Given the description of an element on the screen output the (x, y) to click on. 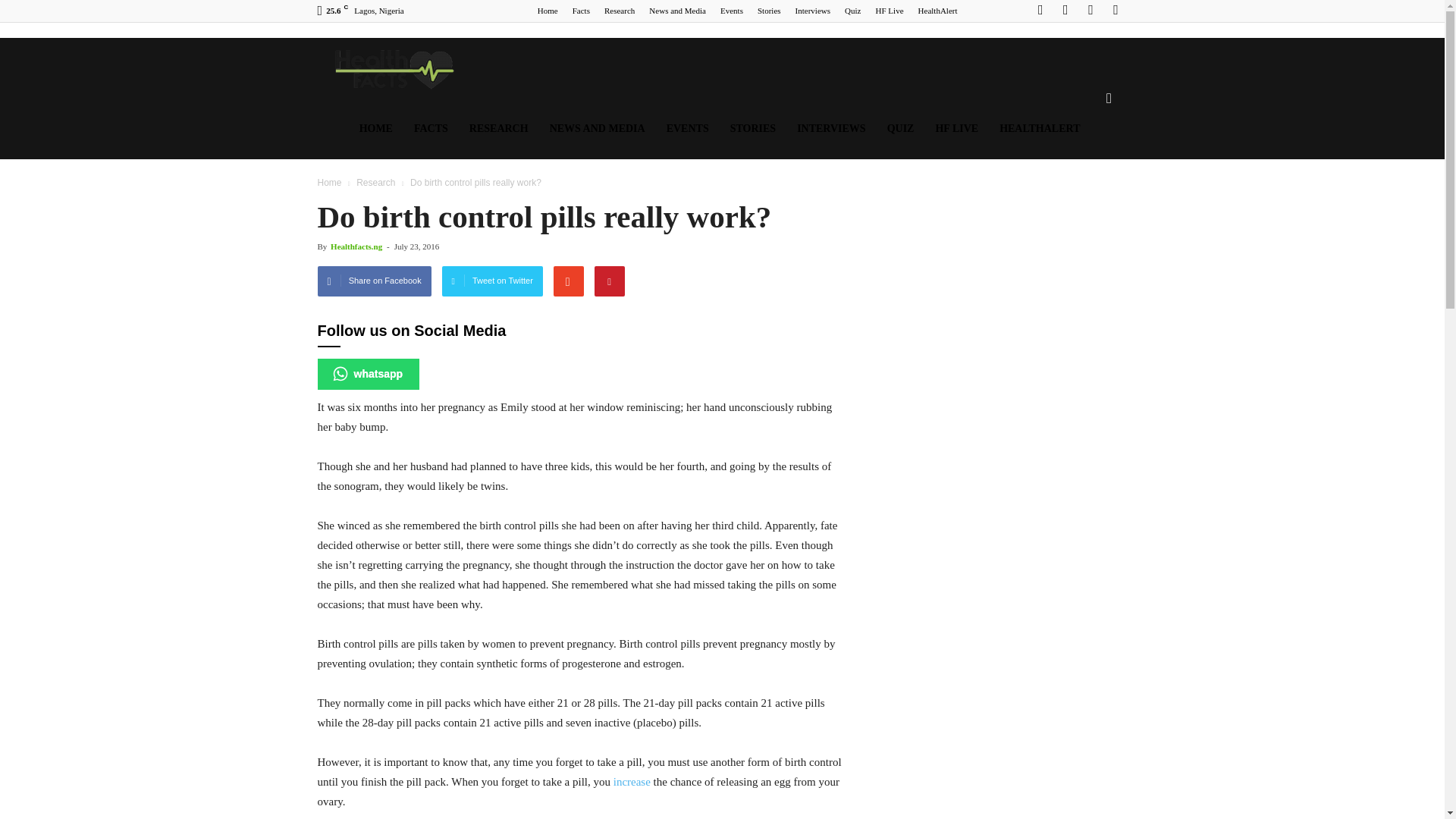
RESEARCH (498, 128)
HF Live (890, 10)
HOME (376, 128)
HealthAlert (938, 10)
News and Media (677, 10)
EVENTS (687, 128)
Linkedin (1090, 11)
Quiz (852, 10)
Facts (580, 10)
HealthFacts NG (391, 68)
